Given the description of an element on the screen output the (x, y) to click on. 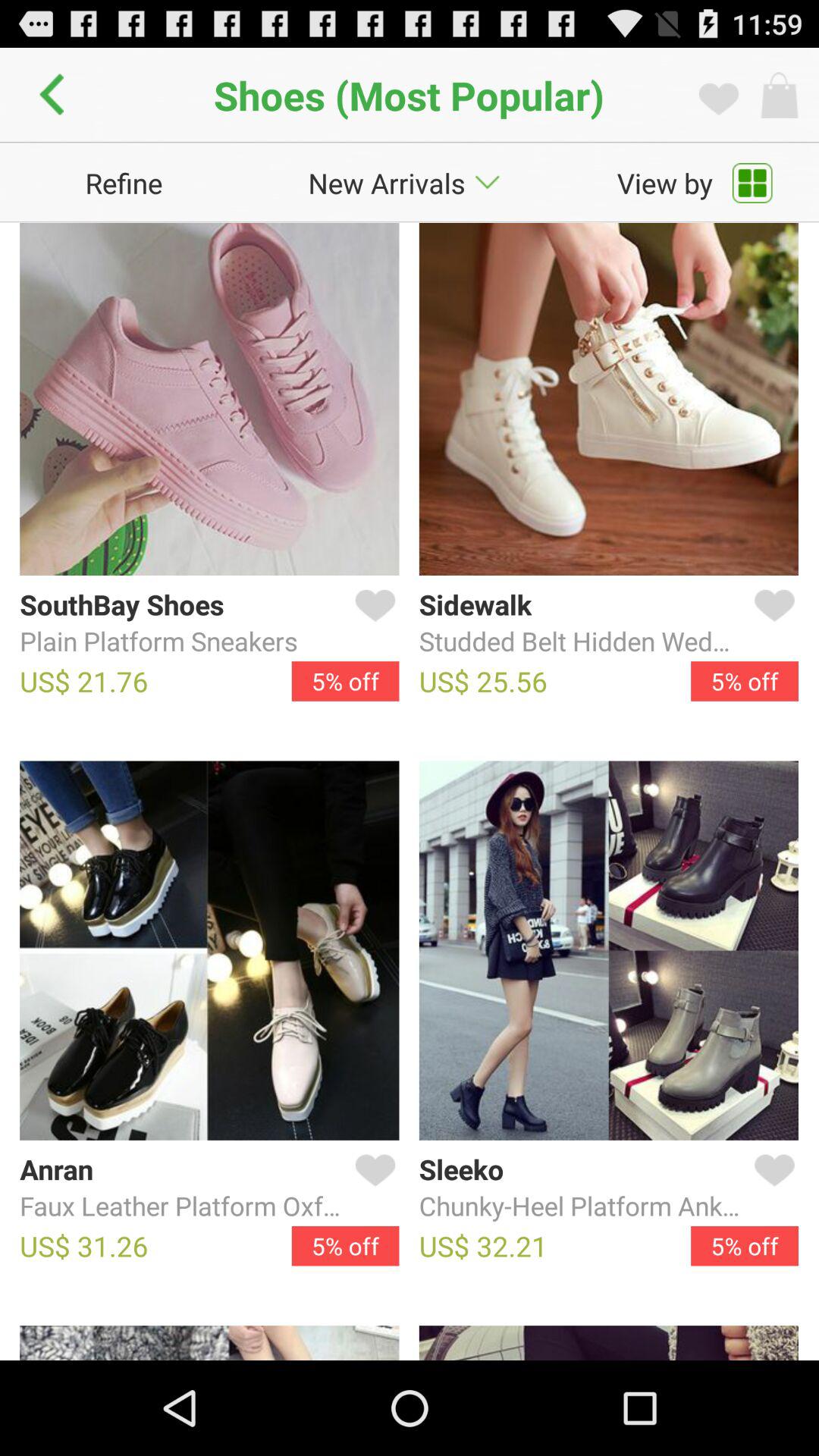
press icon to the left of shoes (most popular) app (56, 94)
